Given the description of an element on the screen output the (x, y) to click on. 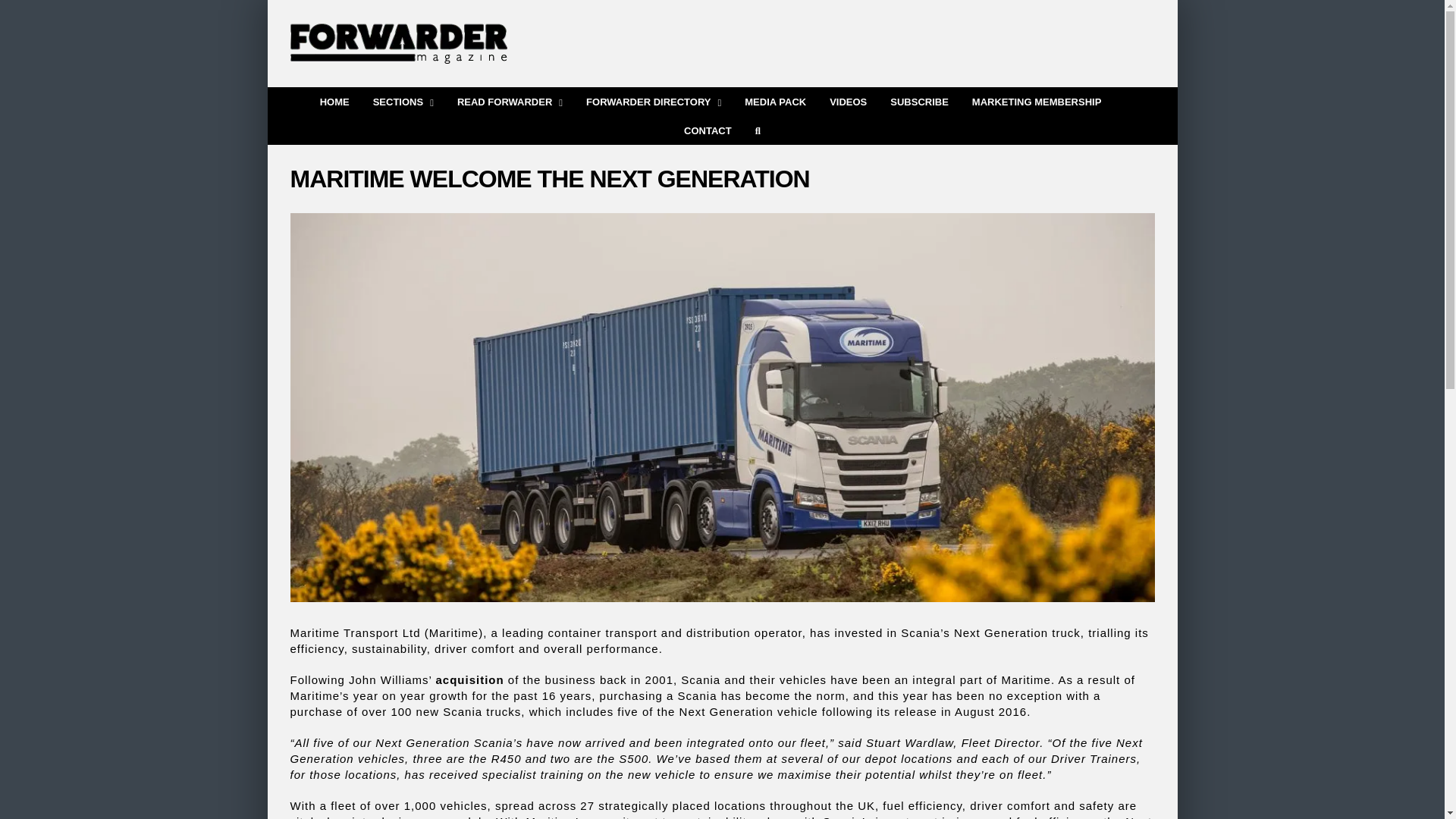
VIDEOS (847, 100)
SUBSCRIBE (919, 100)
MARKETING MEMBERSHIP (1036, 100)
MEDIA PACK (775, 100)
READ FORWARDER (509, 100)
CONTACT (708, 129)
HOME (334, 100)
FORWARDER DIRECTORY (653, 100)
SECTIONS (402, 100)
